Given the description of an element on the screen output the (x, y) to click on. 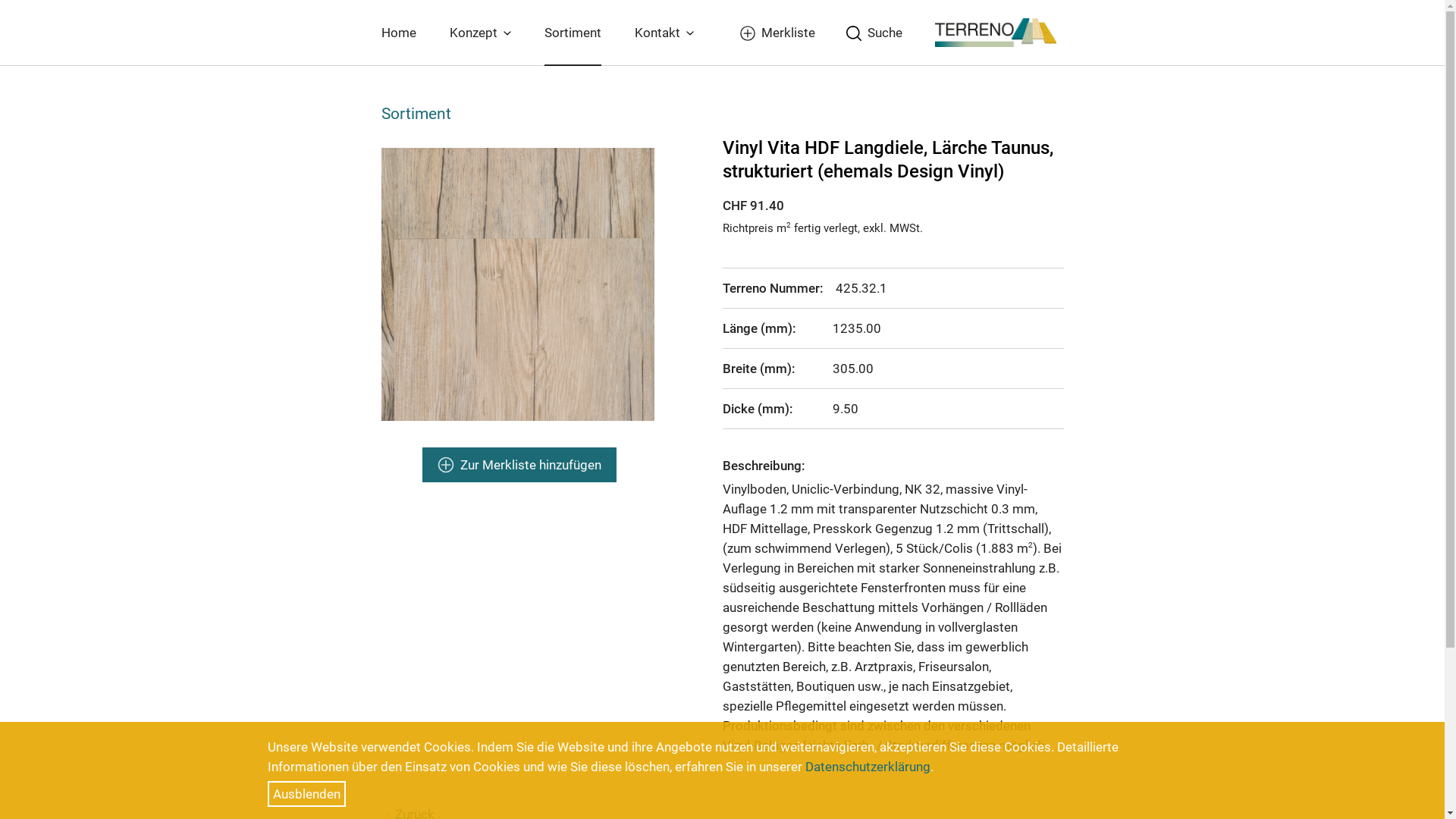
Ausblenden Element type: text (305, 793)
Konzept Element type: text (479, 32)
Sortiment Element type: text (572, 32)
Bodenvielfalt - TERRENO | Braun AG Element type: hover (994, 30)
Merkliste Element type: text (774, 32)
Home Element type: text (397, 32)
Kontakt Element type: text (663, 32)
Suche Element type: text (871, 32)
